Given the description of an element on the screen output the (x, y) to click on. 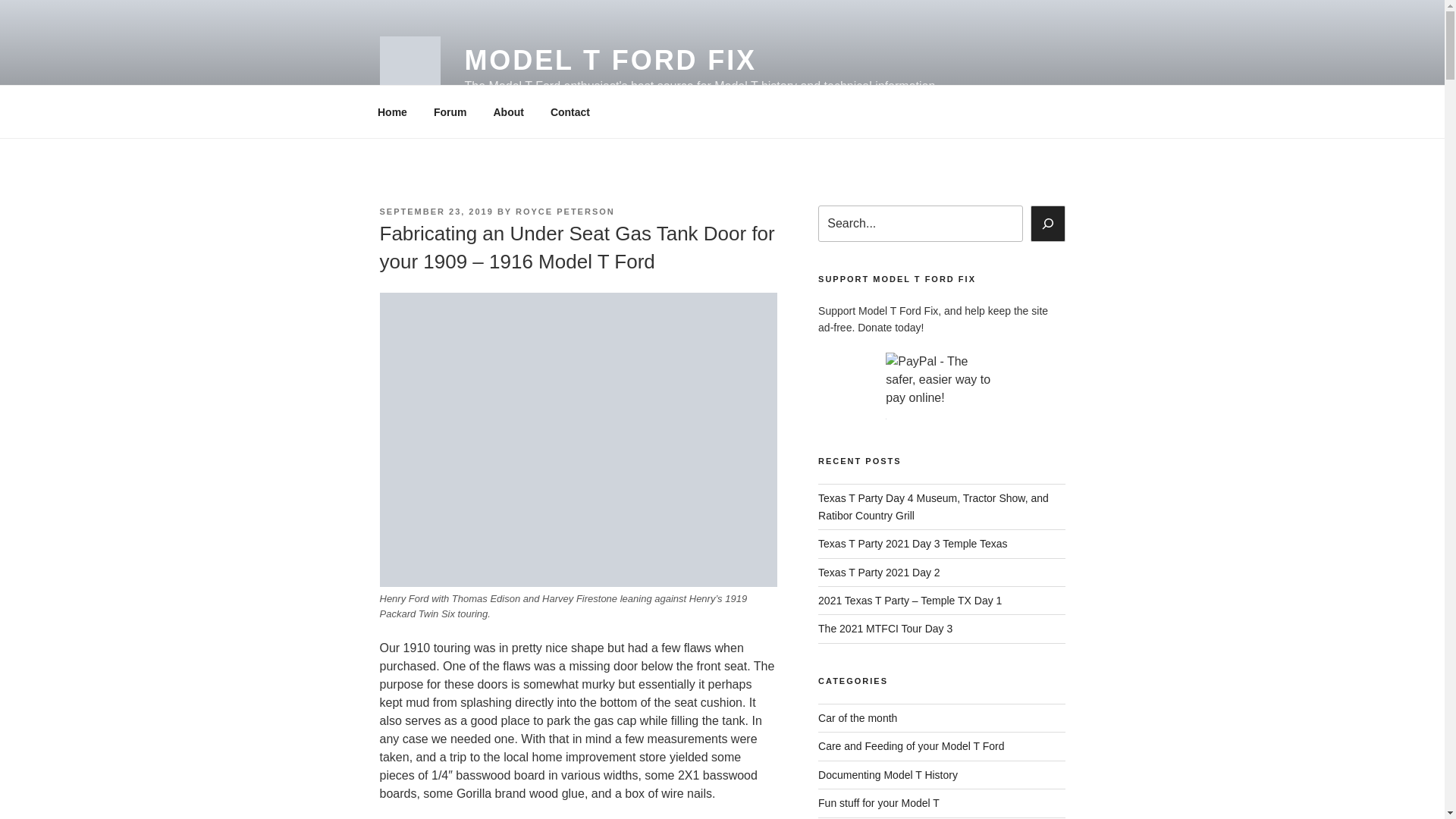
Texas T Party 2021 Day 3 Temple Texas (912, 543)
Texas T Party 2021 Day 2 (879, 571)
Car of the month (857, 717)
Fun stuff for your Model T (878, 802)
Contact (569, 112)
Documenting Model T History (888, 775)
ROYCE PETERSON (564, 211)
The 2021 MTFCI Tour Day 3 (885, 628)
About (508, 112)
